Given the description of an element on the screen output the (x, y) to click on. 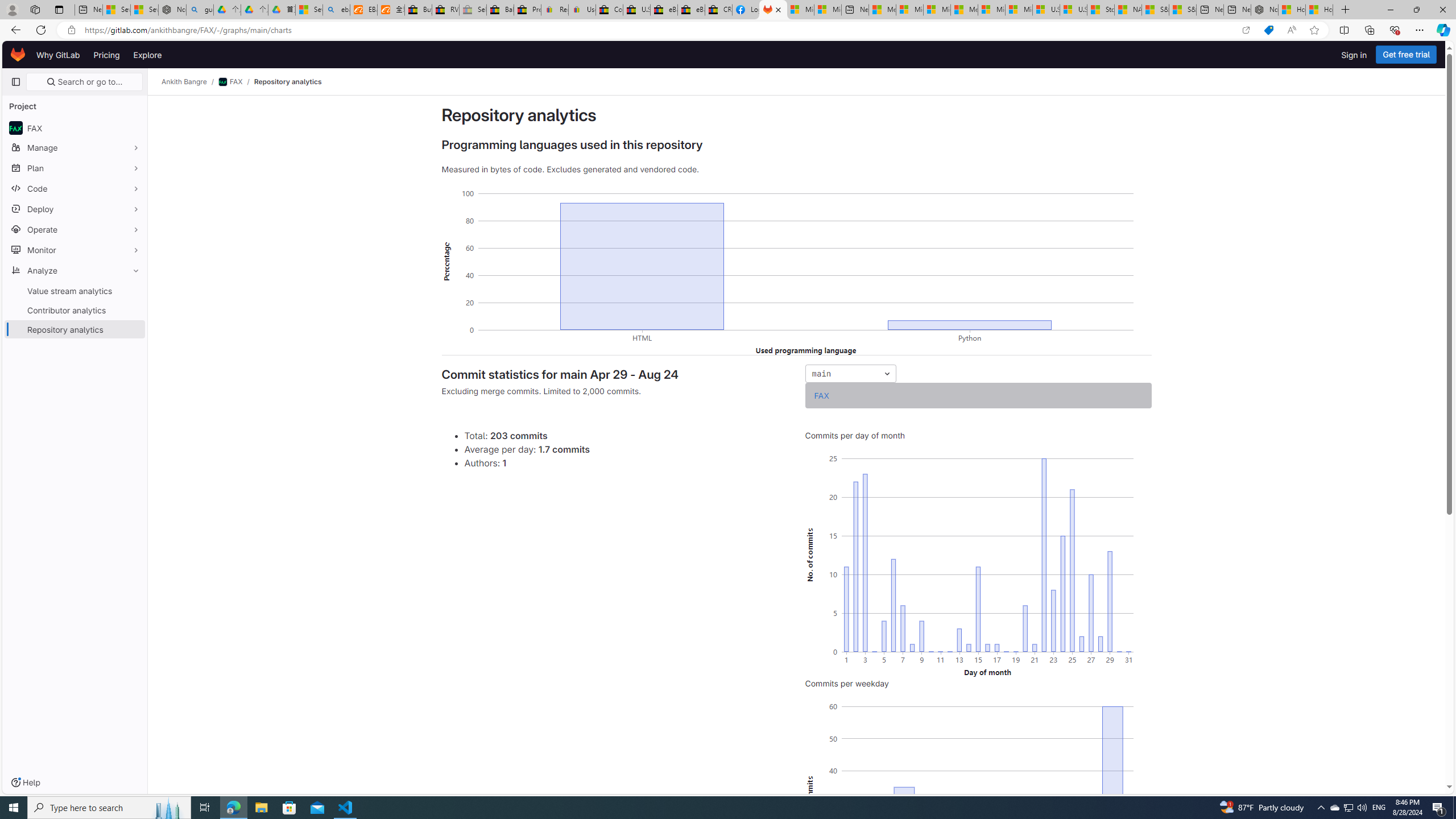
Monitor (74, 249)
FAX (821, 394)
Log into Facebook (746, 9)
FAX (821, 395)
main (850, 372)
